Given the description of an element on the screen output the (x, y) to click on. 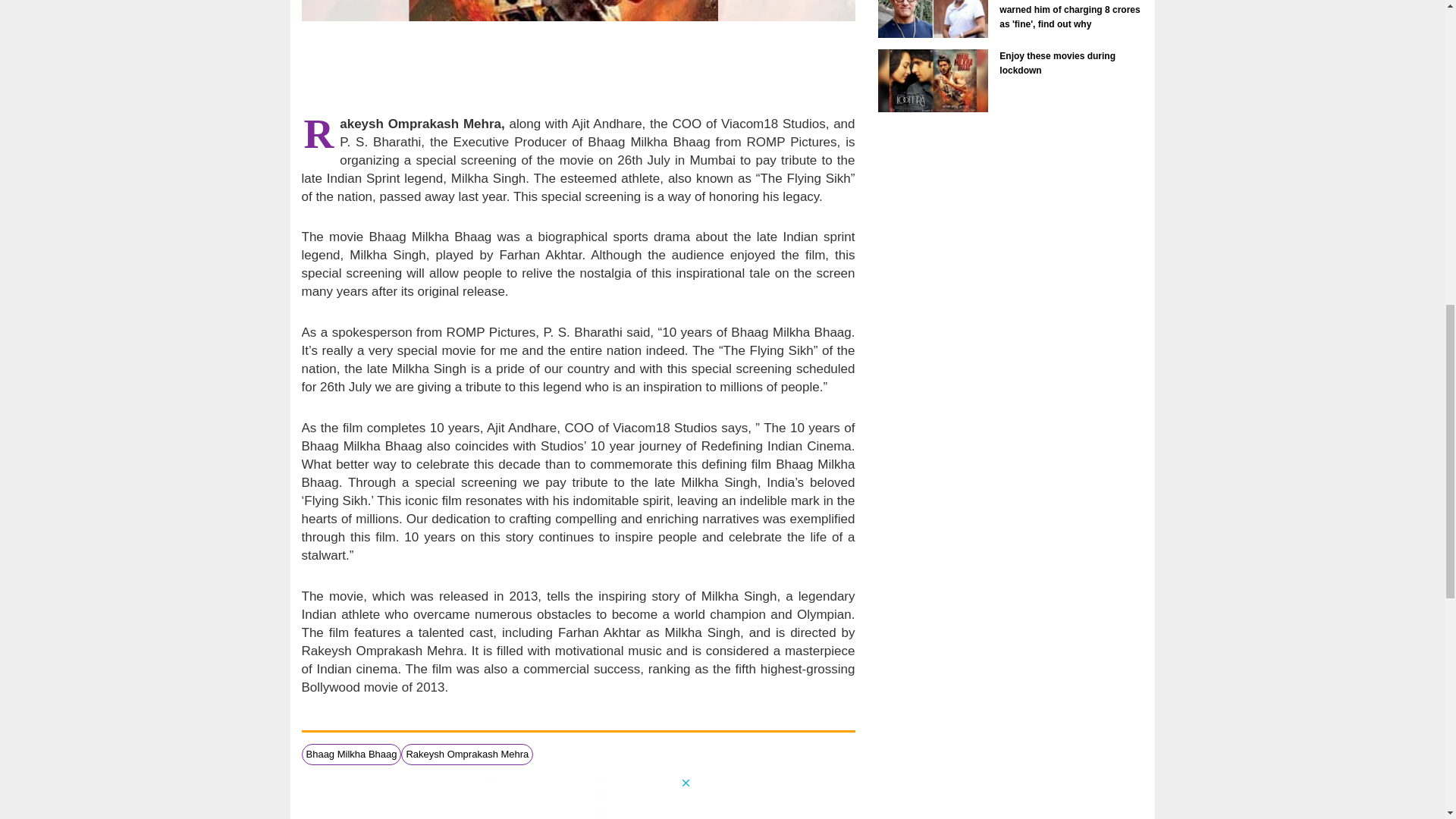
3rd party ad content (577, 66)
Bhaag Milkha Bhaag (351, 754)
3rd party ad content (577, 797)
Rakeysh Omprakash Mehra (467, 754)
